Given the description of an element on the screen output the (x, y) to click on. 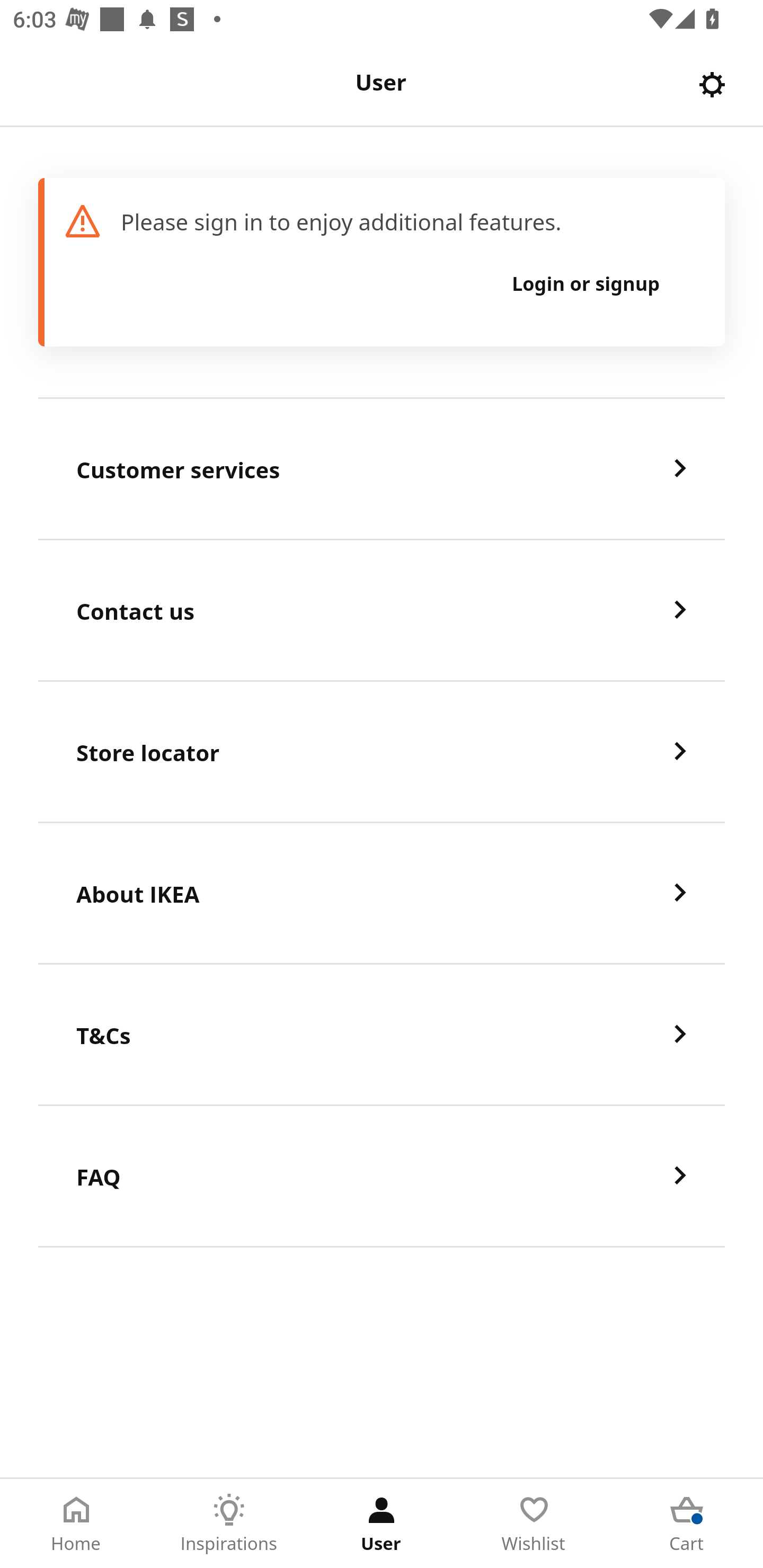
Login or signup (586, 282)
Customer services (381, 469)
Contact us (381, 611)
Store locator (381, 752)
About IKEA (381, 893)
T&Cs (381, 1034)
FAQ (381, 1176)
Home
Tab 1 of 5 (76, 1522)
Inspirations
Tab 2 of 5 (228, 1522)
User
Tab 3 of 5 (381, 1522)
Wishlist
Tab 4 of 5 (533, 1522)
Cart
Tab 5 of 5 (686, 1522)
